Given the description of an element on the screen output the (x, y) to click on. 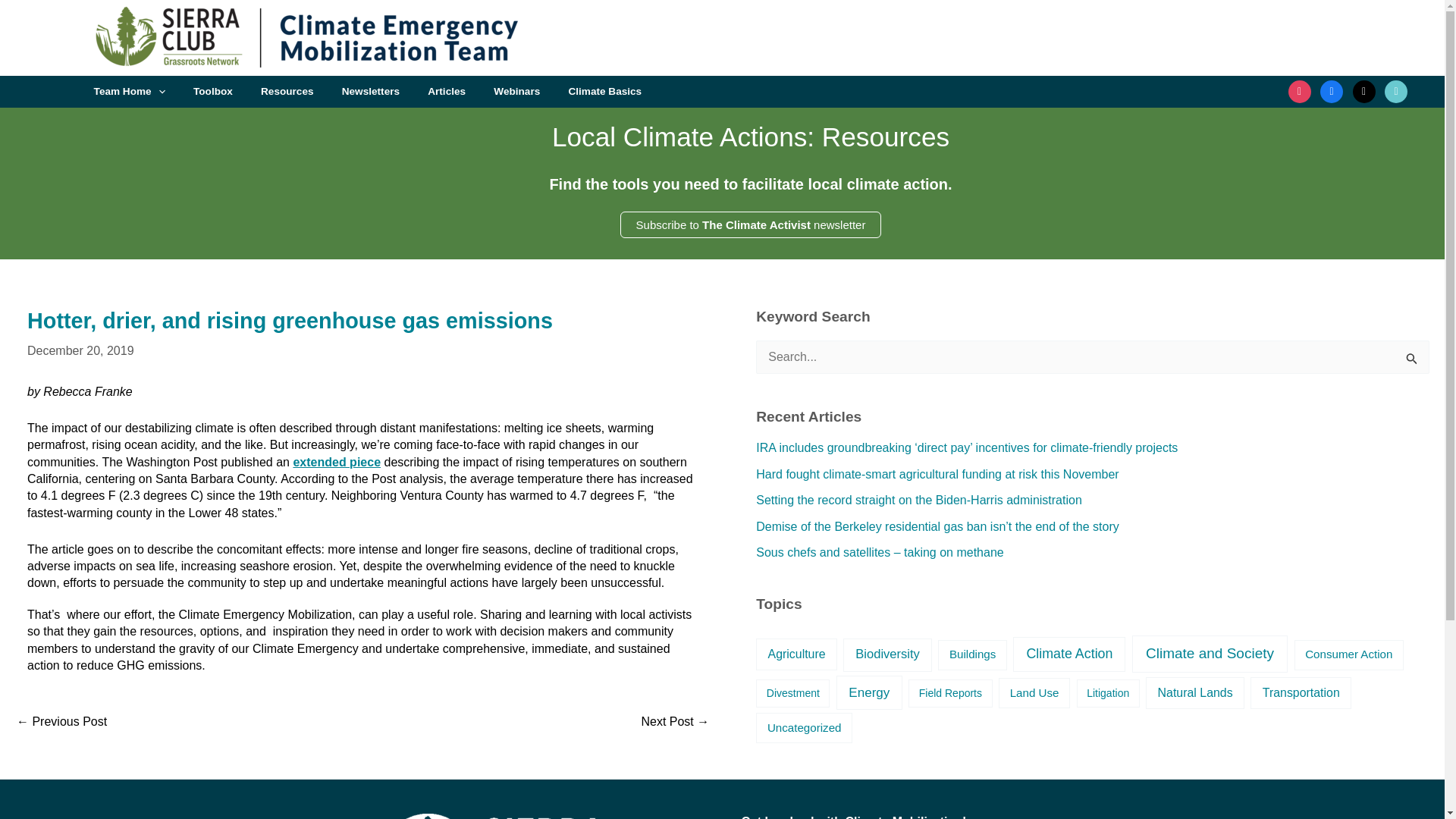
extended piece (336, 461)
instagram (1299, 90)
Facebook (1331, 90)
Webinars (516, 91)
Instagram (1299, 90)
Articles (446, 91)
facebook (1331, 90)
